Given the description of an element on the screen output the (x, y) to click on. 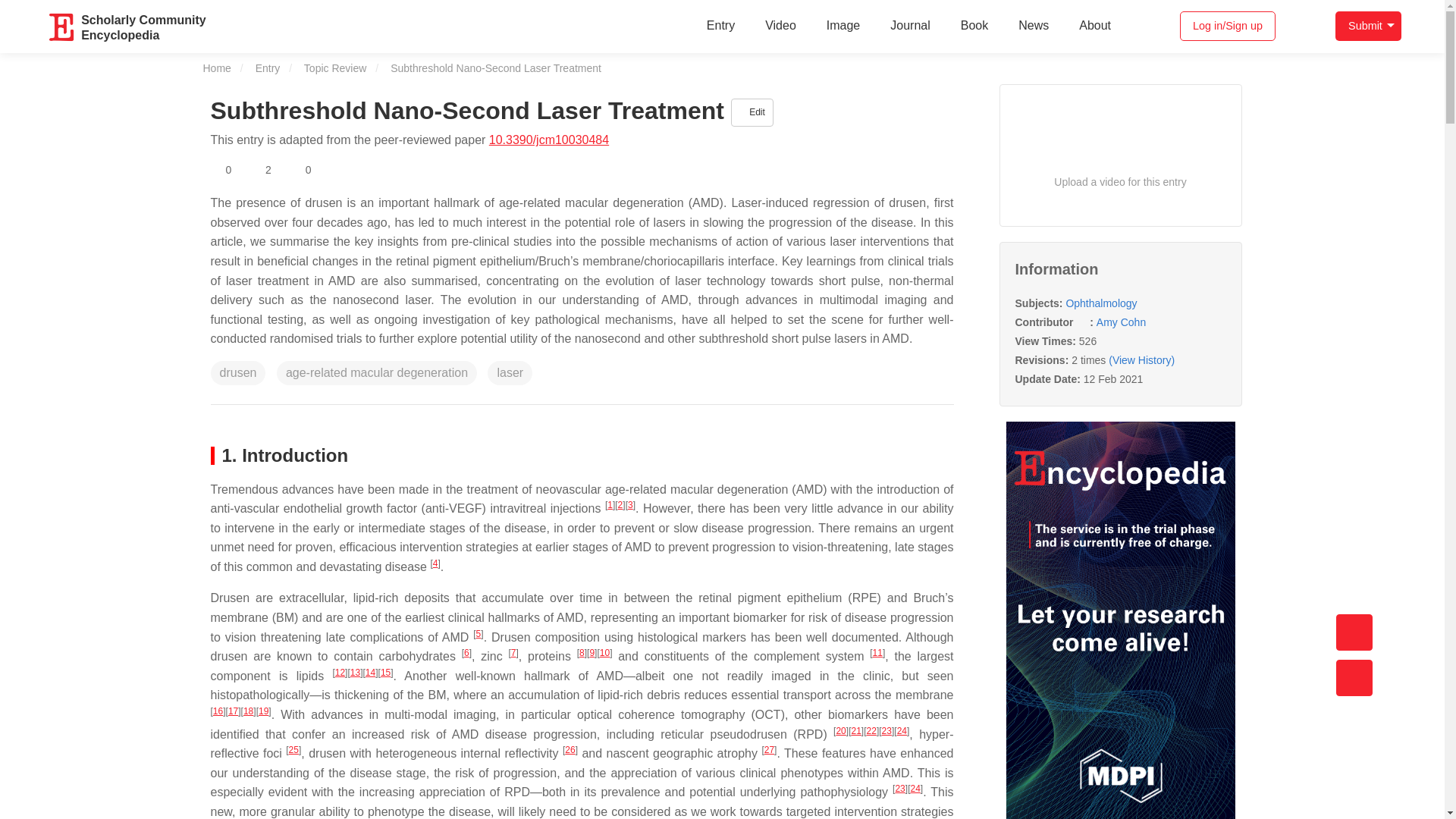
Comment (300, 169)
Image (842, 25)
Submit (1367, 25)
Journal (909, 25)
Download as PDF (143, 25)
Encyclopedia (367, 169)
Share (62, 27)
About (336, 169)
News (1094, 25)
Edit (1033, 25)
Favorite (751, 112)
Cite (221, 169)
Book (398, 169)
Report (973, 25)
